Given the description of an element on the screen output the (x, y) to click on. 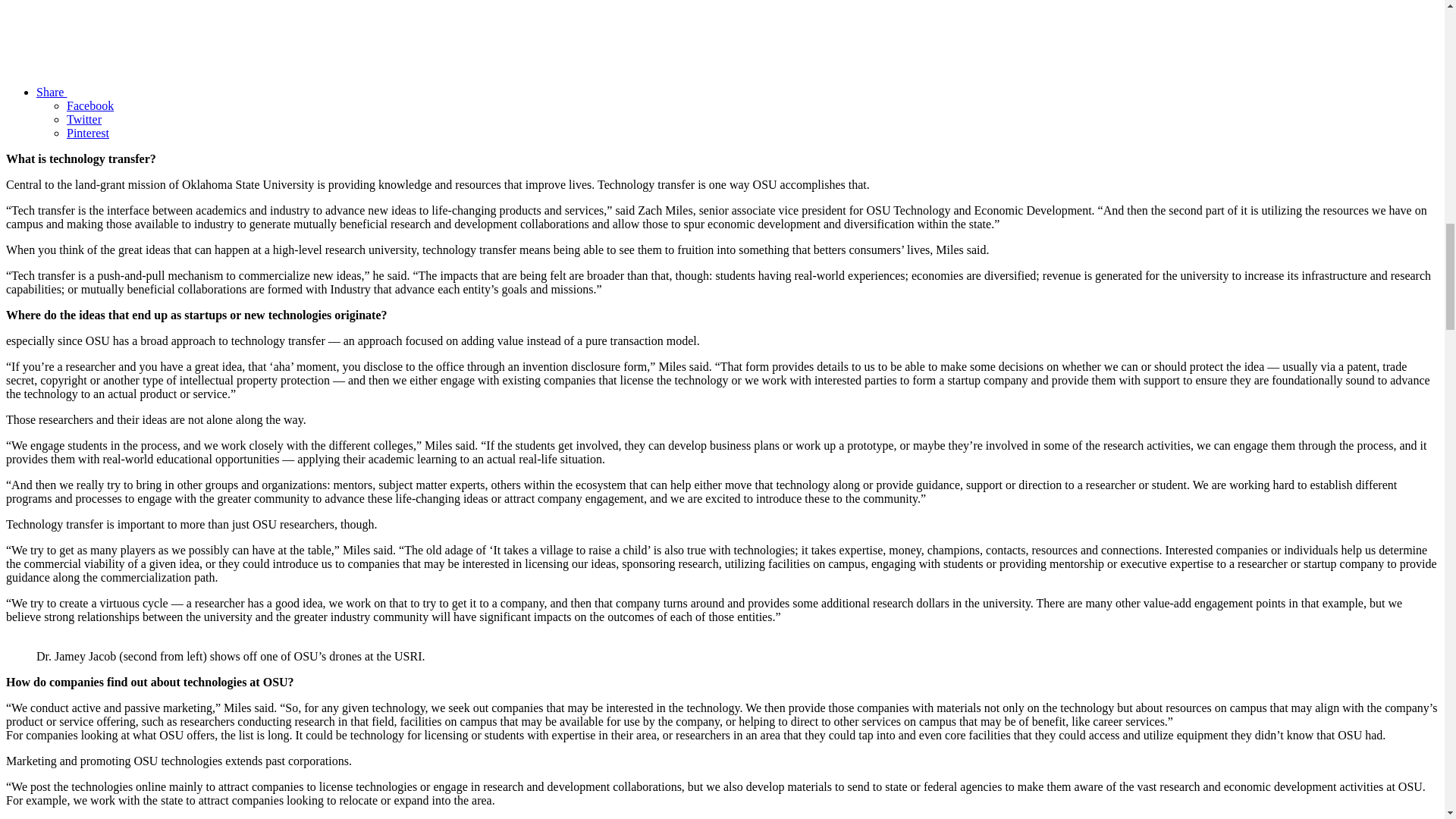
Twitter (83, 119)
Facebook (89, 105)
Share (165, 91)
Pinterest (87, 132)
